Given the description of an element on the screen output the (x, y) to click on. 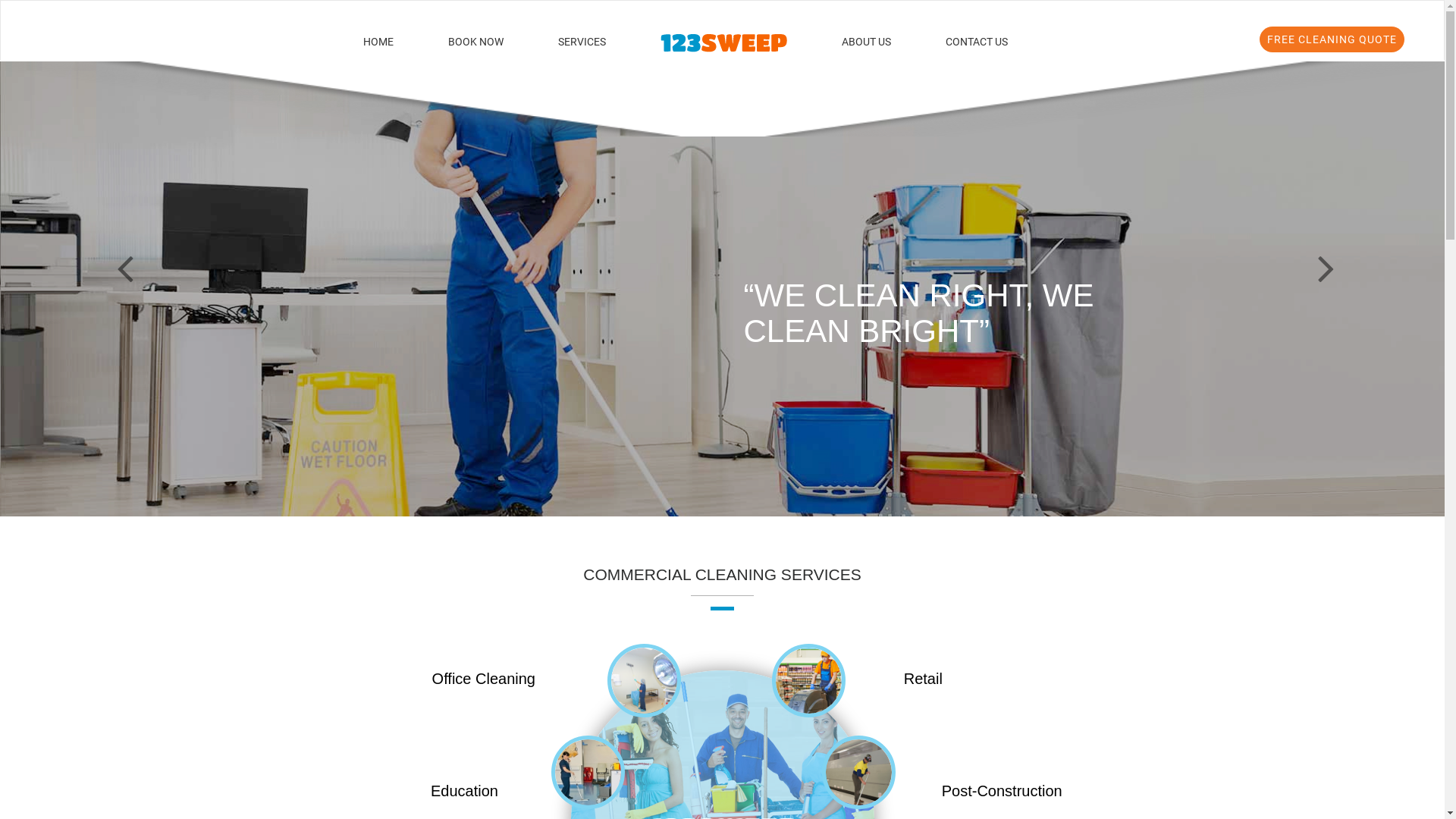
FREE CLEANING QUOTE Element type: text (1331, 39)
HOME Element type: text (392, 41)
CONTACT US Element type: text (960, 41)
Office Cleaning Element type: text (483, 678)
Previous Element type: text (108, 262)
Next Element type: text (1308, 262)
BOOK NOW Element type: text (475, 41)
Education Element type: text (464, 790)
ABOUT US Element type: text (865, 41)
Retail Element type: text (922, 678)
SERVICES Element type: text (581, 41)
Post-Construction Element type: text (1001, 790)
